Given the description of an element on the screen output the (x, y) to click on. 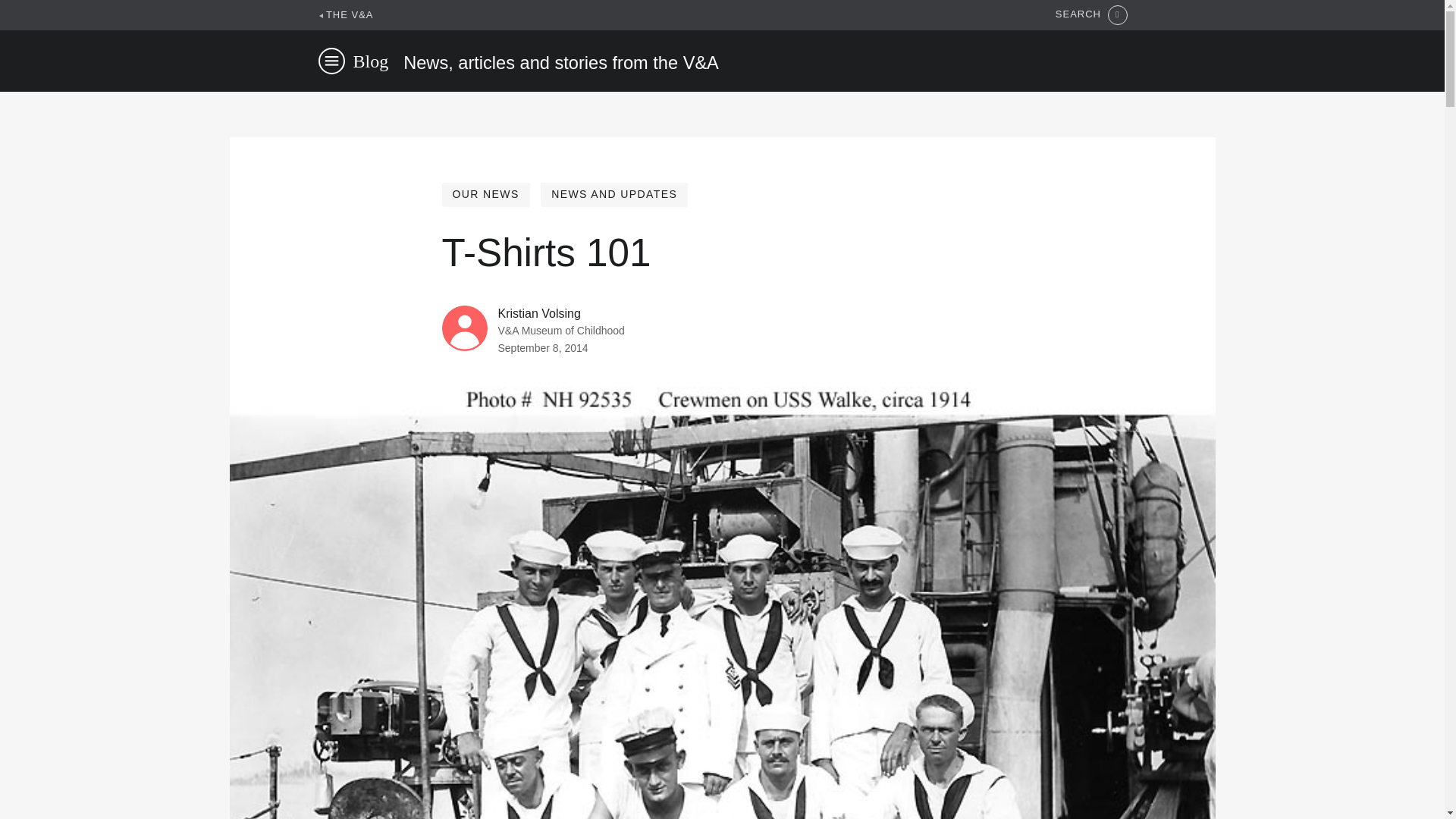
NEWS AND UPDATES (613, 194)
OUR NEWS (485, 194)
Kristian Volsing (538, 313)
SEARCH (1090, 15)
Blog (370, 60)
Posts by Kristian Volsing (538, 313)
